Given the description of an element on the screen output the (x, y) to click on. 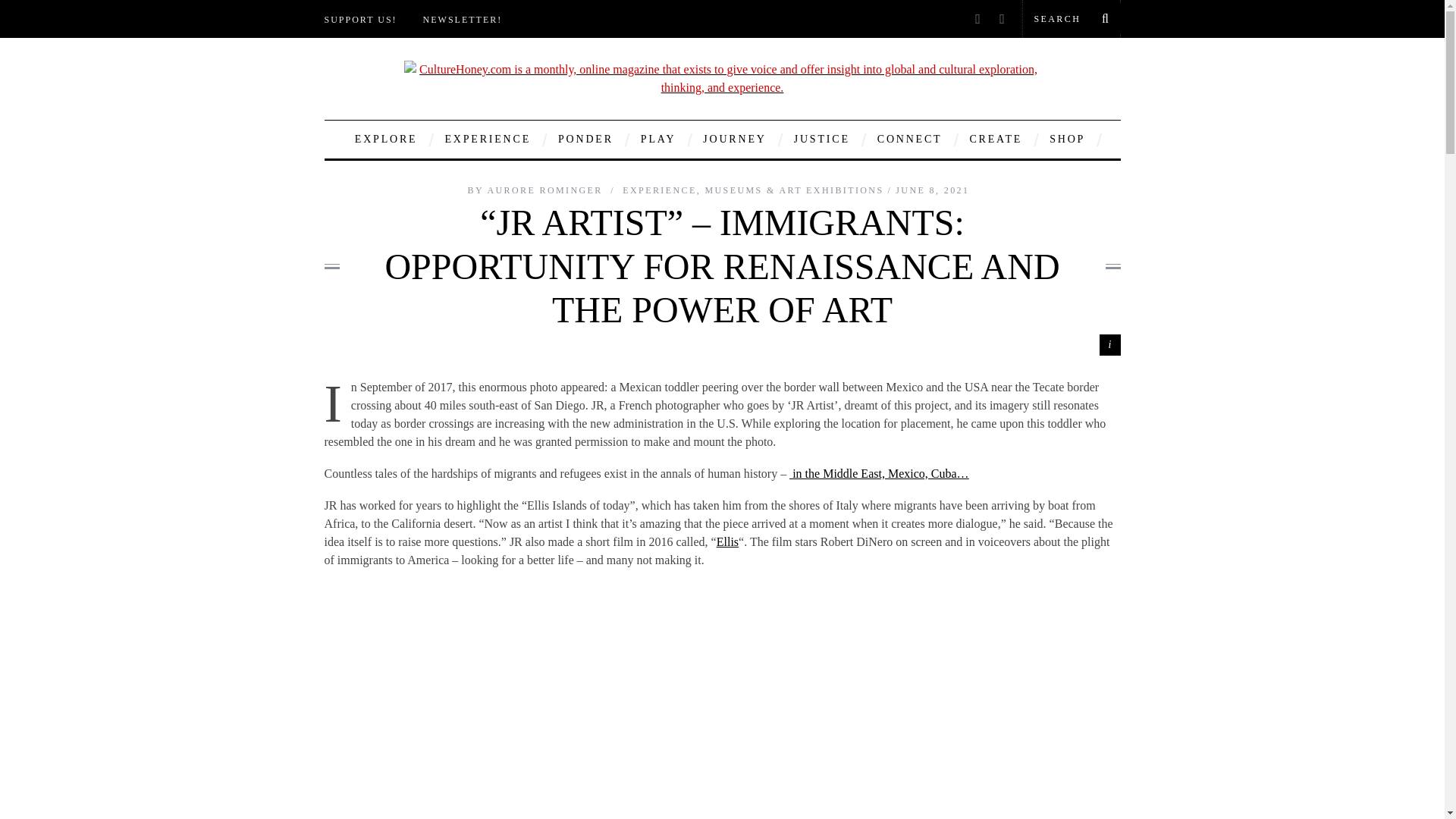
PONDER (585, 139)
EXPLORE (386, 139)
EXPERIENCE (486, 139)
Search (1071, 18)
NEWSLETTER! (462, 24)
SUPPORT US! (360, 24)
YouTube video player (721, 701)
